Given the description of an element on the screen output the (x, y) to click on. 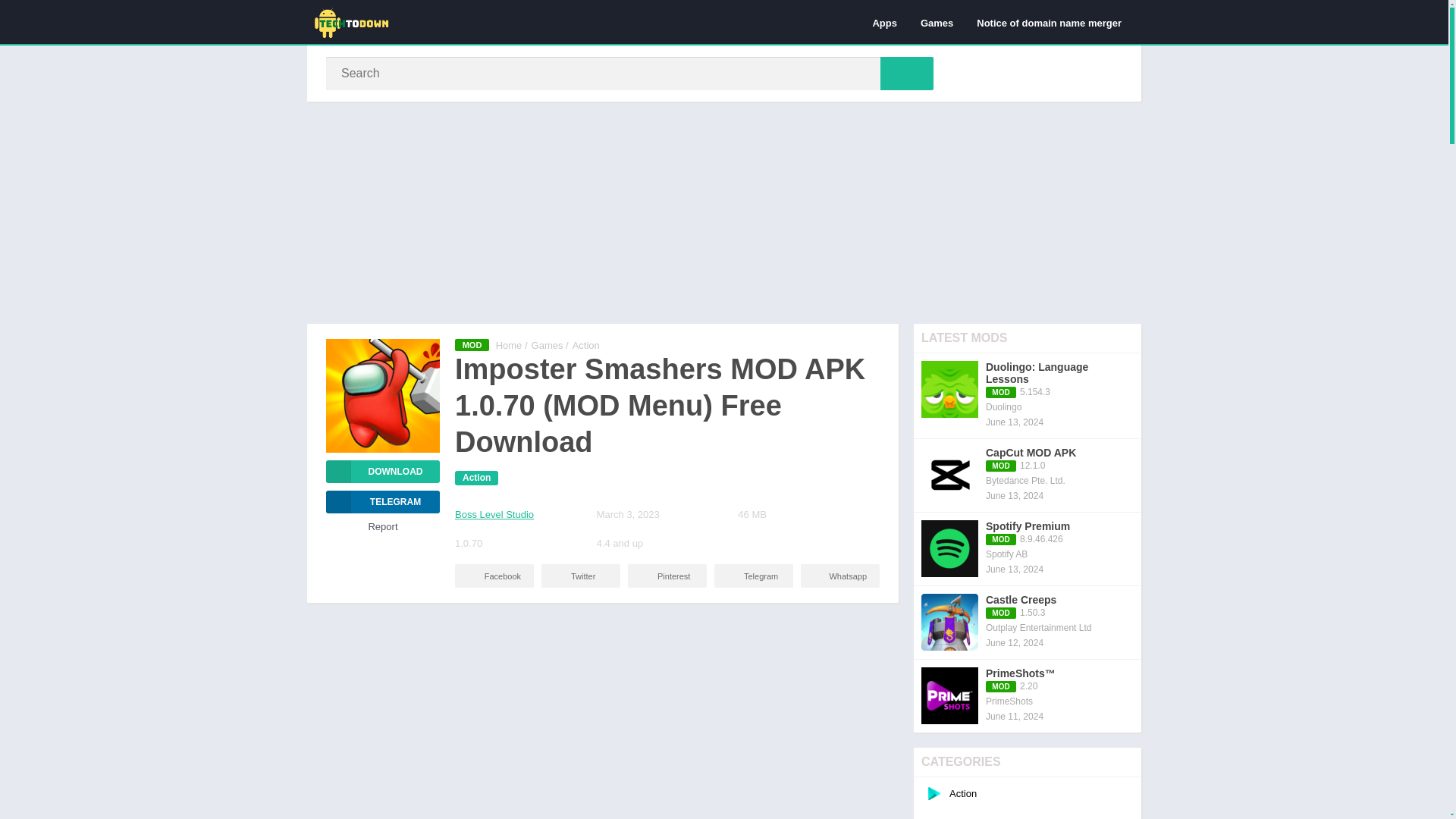
Games (935, 22)
Download (382, 471)
Games (547, 345)
Search (906, 73)
Boss Level Studio (494, 514)
Telegram (753, 576)
Telegram (382, 501)
Whatsapp (839, 576)
Action (475, 477)
DOWNLOAD (382, 471)
Twitter (580, 576)
Home (509, 345)
Facebook (494, 576)
Pinterest (666, 576)
Apps (884, 22)
